Given the description of an element on the screen output the (x, y) to click on. 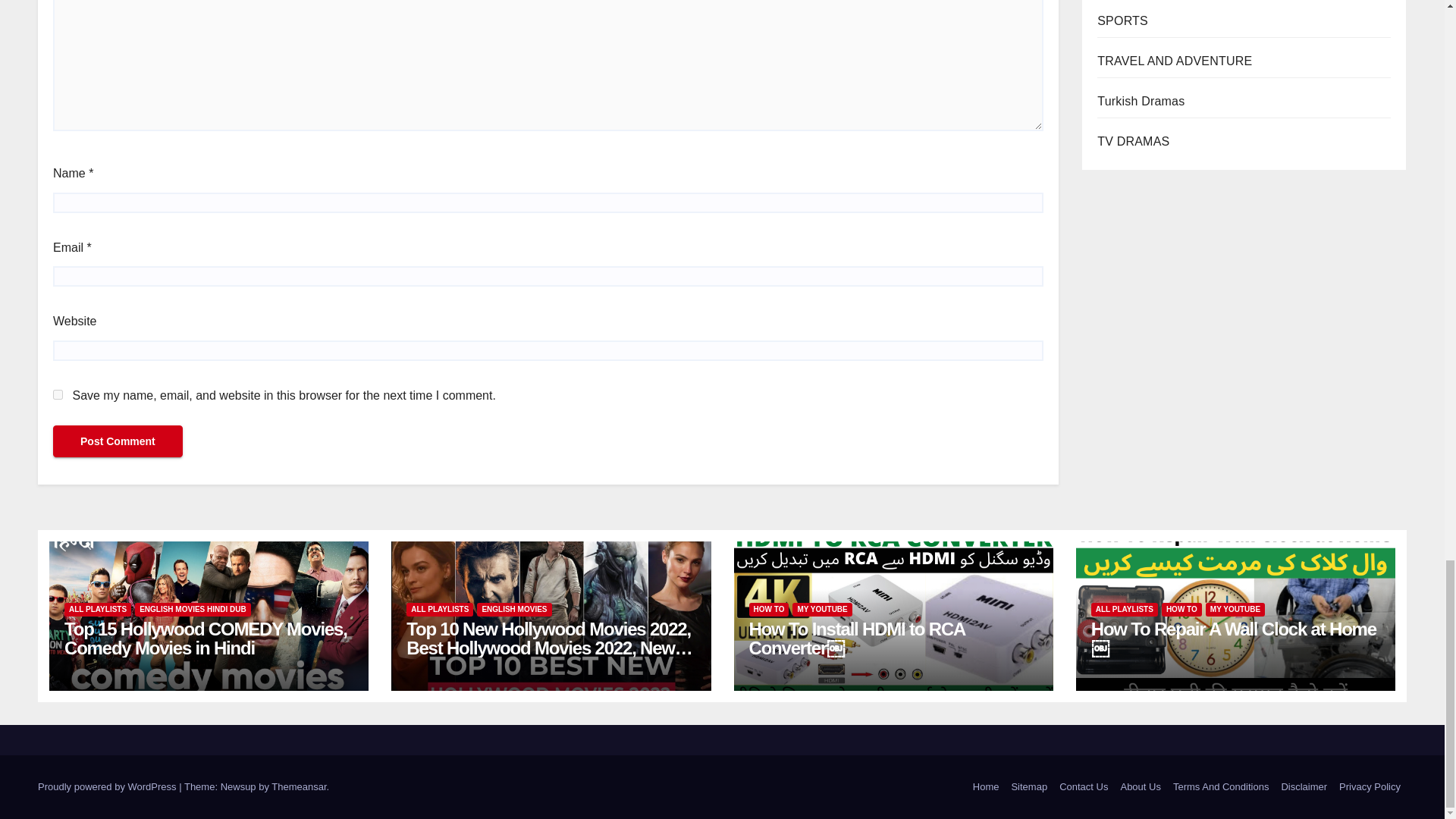
Post Comment (117, 441)
yes (57, 394)
